Given the description of an element on the screen output the (x, y) to click on. 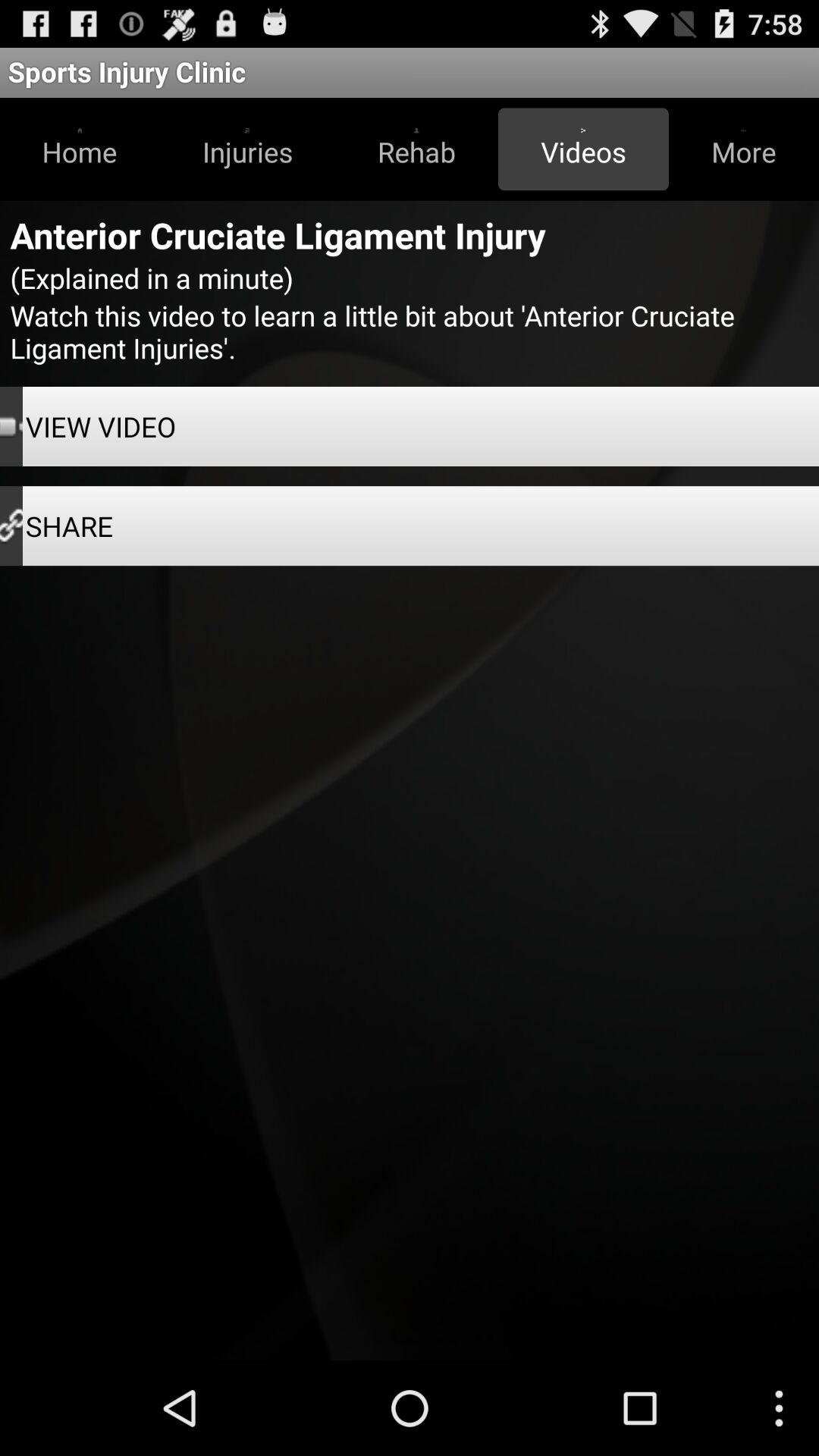
click button to the left of the injuries button (79, 149)
